Given the description of an element on the screen output the (x, y) to click on. 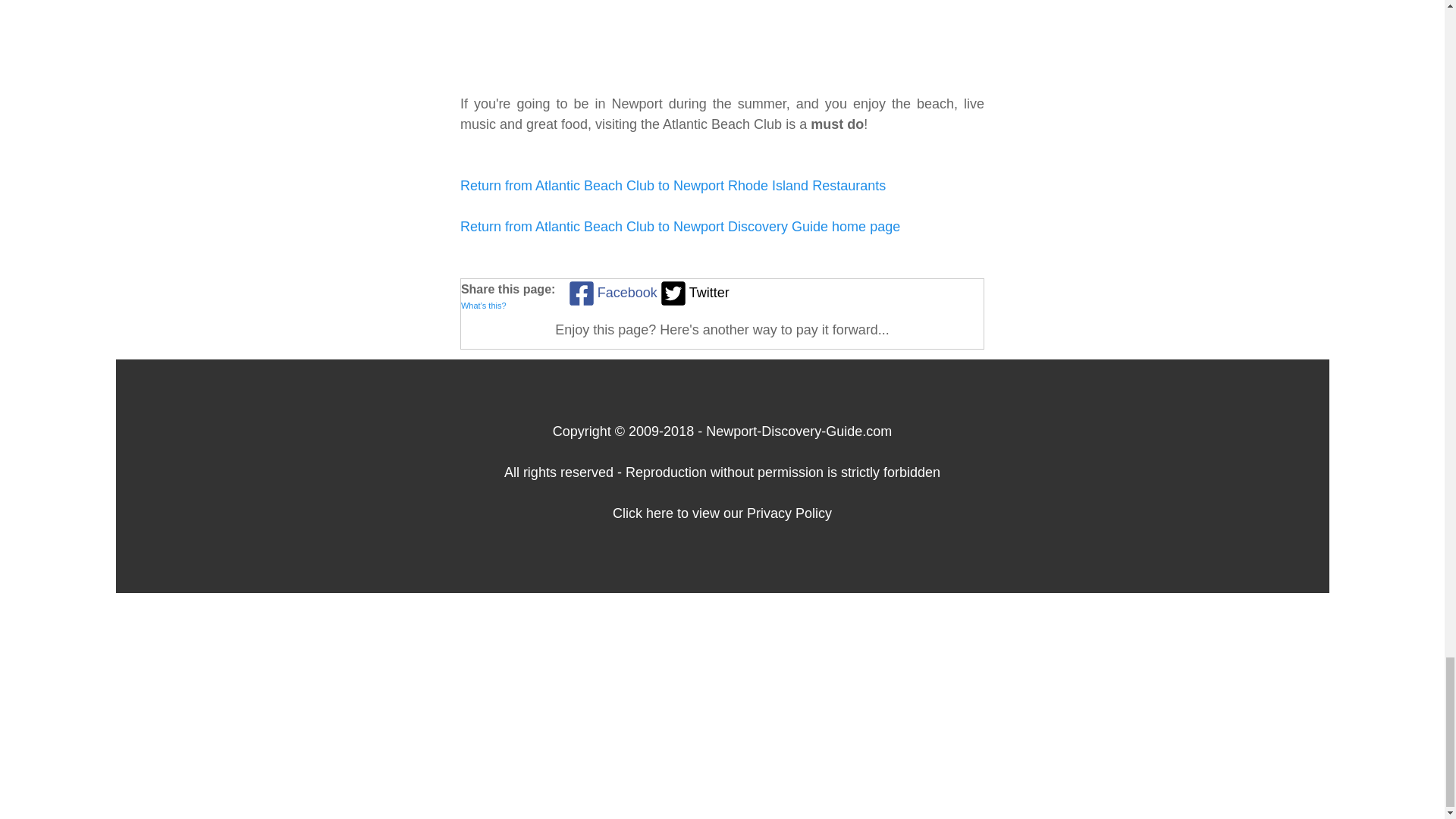
Click here to view our Privacy Policy (721, 513)
Twitter (693, 293)
Facebook (612, 293)
